Given the description of an element on the screen output the (x, y) to click on. 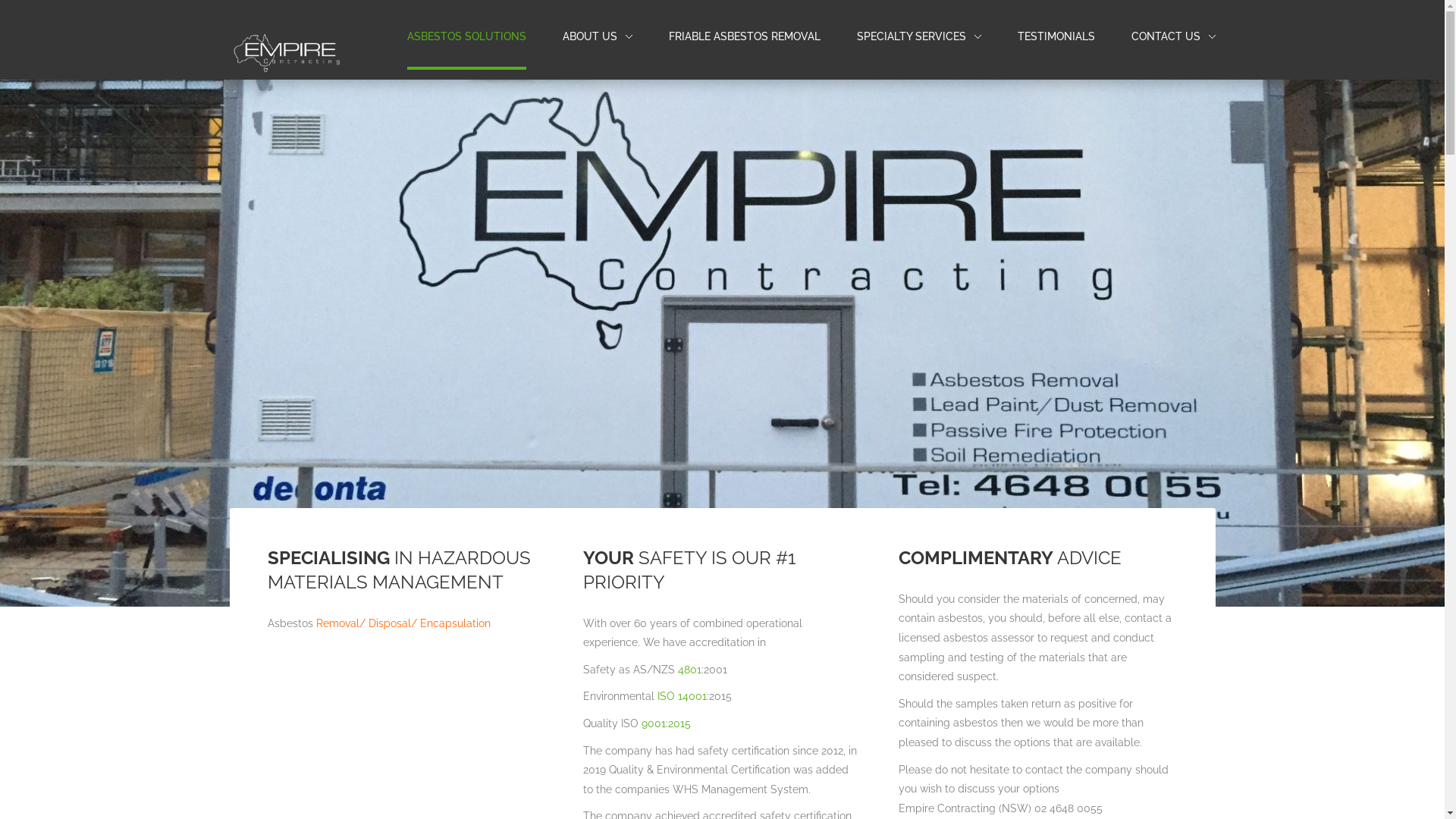
9001:2015  Element type: text (667, 722)
ASBESTOS SOLUTIONS Element type: text (465, 37)
CONTACT US Element type: text (1173, 37)
ABOUT US Element type: text (597, 37)
FRIABLE ASBESTOS REMOVAL Element type: text (744, 37)
SPECIALTY SERVICES Element type: text (911, 36)
Australian War Memorial Stage 2 Containment Element type: text (701, 568)
ISO 14001 Element type: text (681, 695)
ASBESTOS SOLUTIONS Element type: text (465, 36)
TESTIMONIALS Element type: text (1056, 37)
SPECIALTY SERVICES Element type: text (918, 37)
CONTACT US Element type: text (1165, 36)
TESTIMONIALS Element type: text (1056, 36)
Slide7 Element type: text (754, 568)
Slide 3 Element type: text (725, 566)
FRIABLE ASBESTOS REMOVAL Element type: text (744, 36)
ABOUT US Element type: text (589, 36)
4801 Element type: text (689, 668)
